Given the description of an element on the screen output the (x, y) to click on. 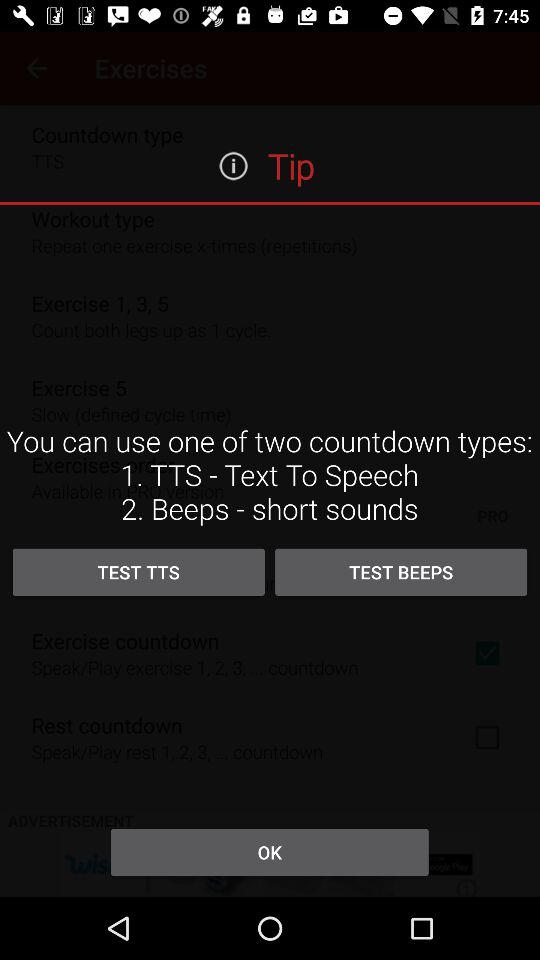
jump until the test tts item (138, 571)
